Given the description of an element on the screen output the (x, y) to click on. 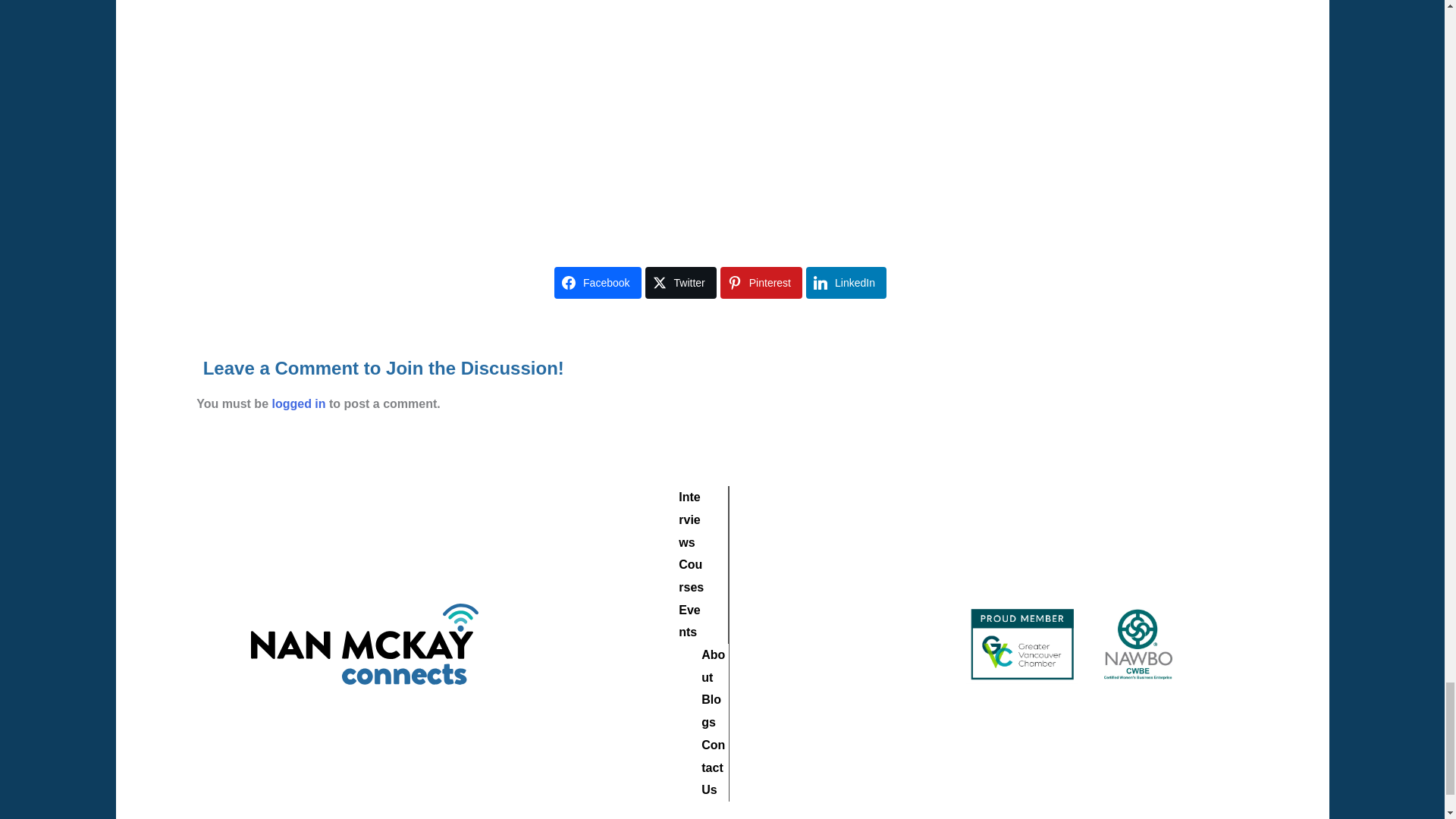
Share on Pinterest (761, 282)
Share on LinkedIn (846, 282)
Share on Facebook (597, 282)
Share on Twitter (680, 282)
YouTube video player (810, 106)
